Given the description of an element on the screen output the (x, y) to click on. 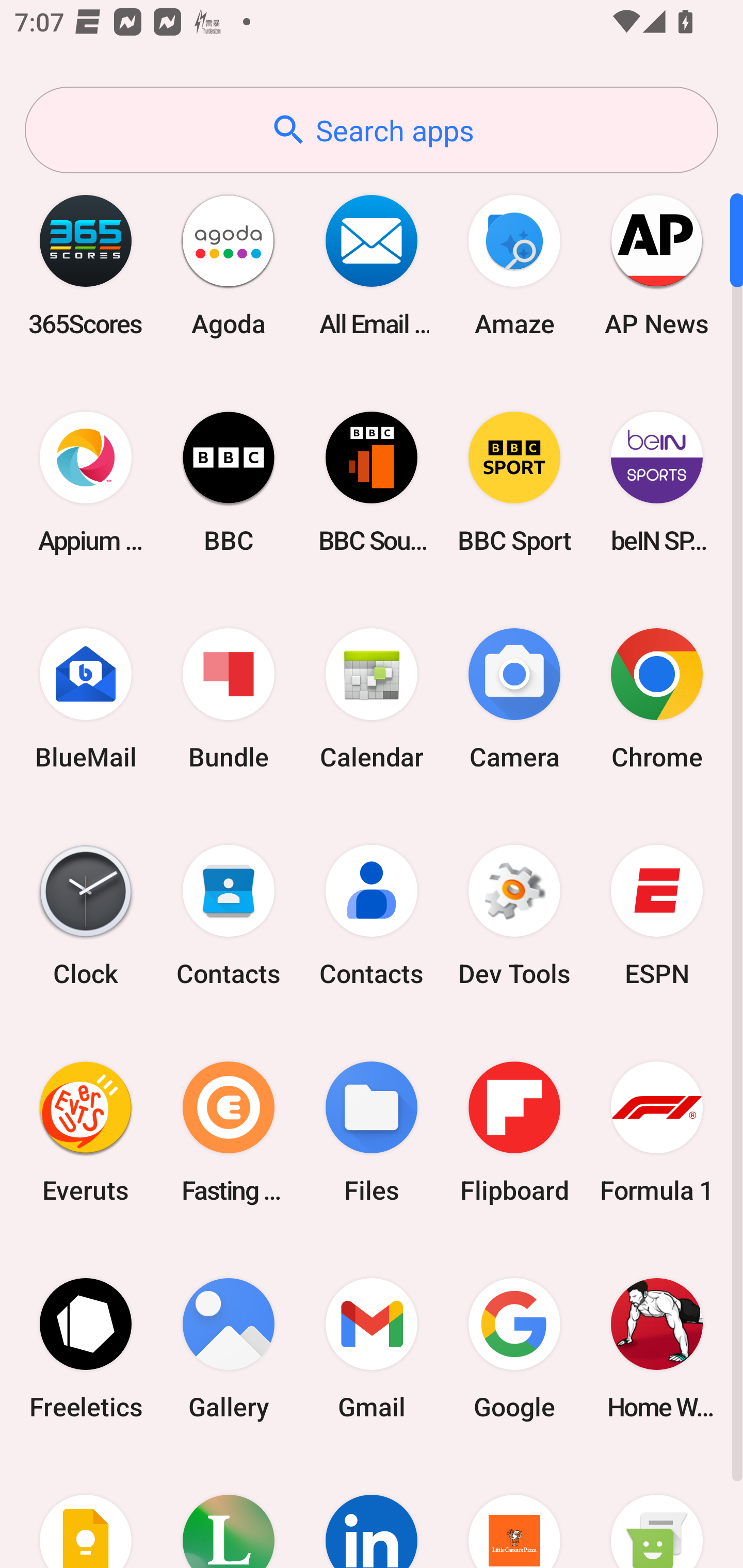
  Search apps (371, 130)
365Scores (85, 264)
Agoda (228, 264)
All Email Connect (371, 264)
Amaze (514, 264)
AP News (656, 264)
Appium Settings (85, 482)
BBC (228, 482)
BBC Sounds (371, 482)
BBC Sport (514, 482)
beIN SPORTS (656, 482)
BlueMail (85, 699)
Bundle (228, 699)
Calendar (371, 699)
Camera (514, 699)
Chrome (656, 699)
Clock (85, 915)
Contacts (228, 915)
Contacts (371, 915)
Dev Tools (514, 915)
ESPN (656, 915)
Everuts (85, 1131)
Fasting Coach (228, 1131)
Files (371, 1131)
Flipboard (514, 1131)
Formula 1 (656, 1131)
Freeletics (85, 1348)
Gallery (228, 1348)
Gmail (371, 1348)
Google (514, 1348)
Home Workout (656, 1348)
Keep Notes (85, 1512)
Lifesum (228, 1512)
LinkedIn (371, 1512)
Little Caesars Pizza (514, 1512)
Messaging (656, 1512)
